Given the description of an element on the screen output the (x, y) to click on. 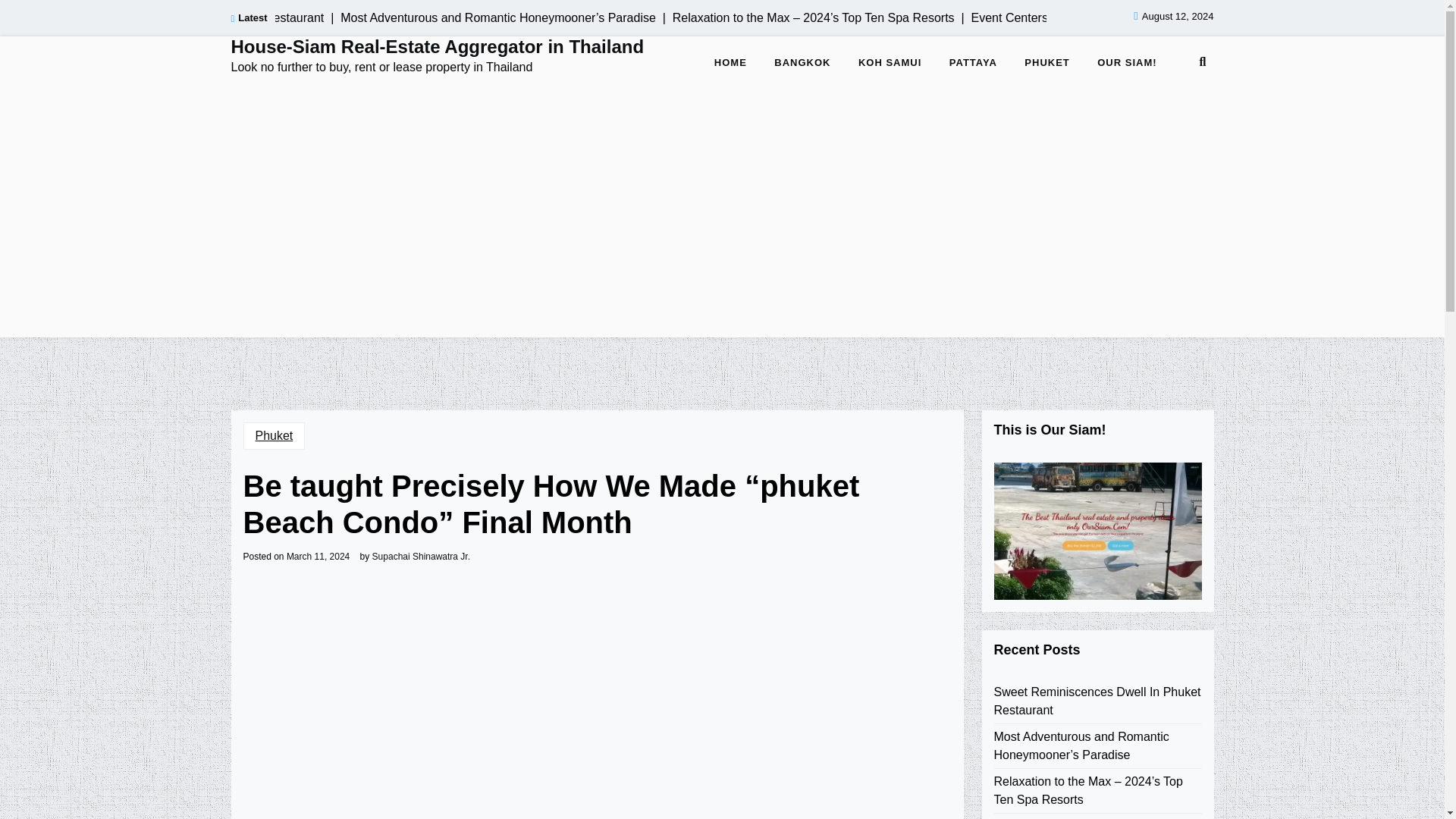
Sweet Reminiscences Dwell In Phuket Restaurant (1096, 701)
BANGKOK (802, 62)
House-Siam Real-Estate Aggregator in Thailand (436, 47)
HOME (729, 62)
Supachai Shinawatra Jr. (421, 556)
Search (722, 480)
Phuket (273, 435)
KOH SAMUI (889, 62)
